Given the description of an element on the screen output the (x, y) to click on. 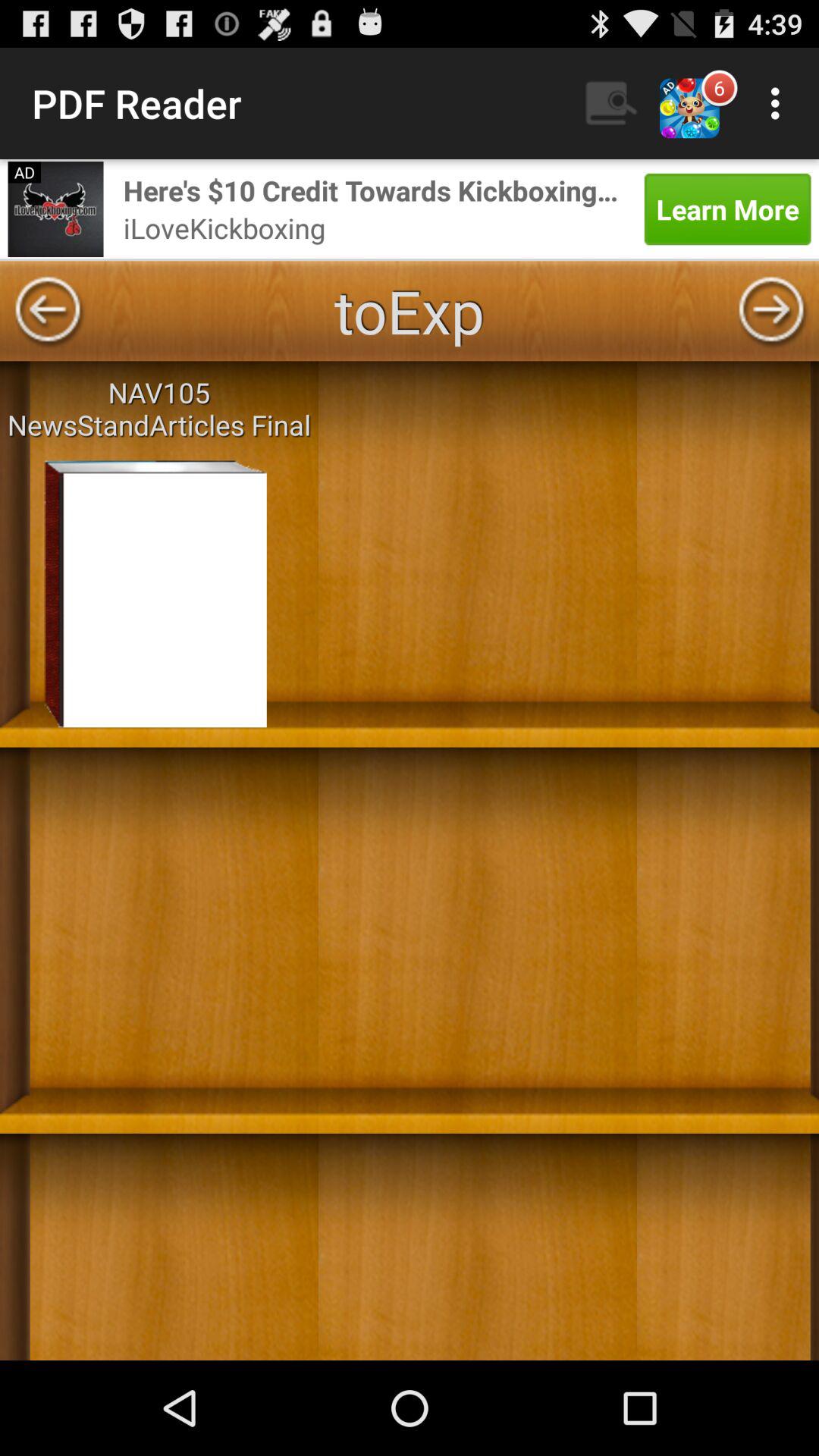
go to advertisement website (55, 209)
